Given the description of an element on the screen output the (x, y) to click on. 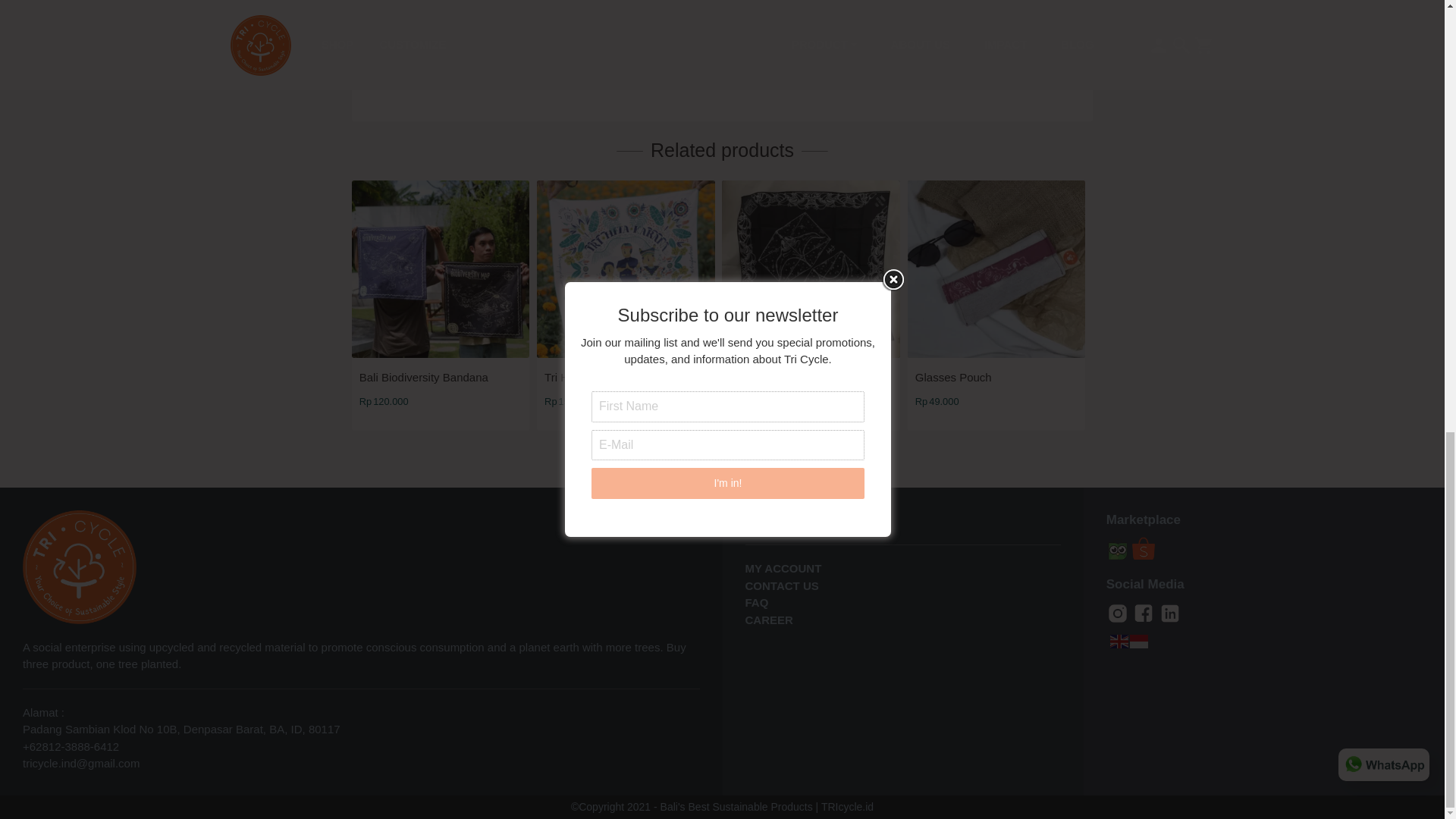
Indonesian (1139, 640)
English (1119, 640)
